Given the description of an element on the screen output the (x, y) to click on. 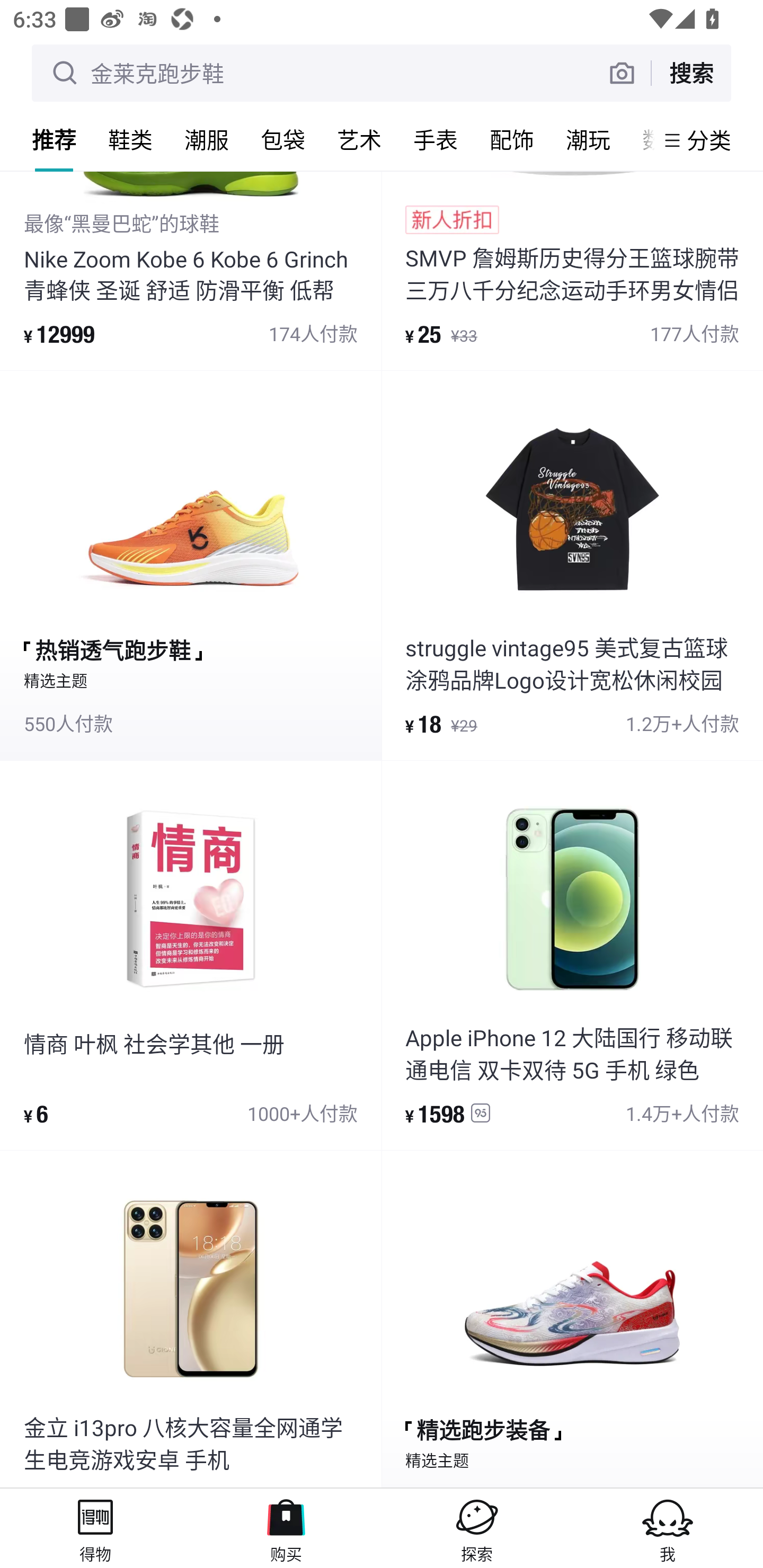
搜索 (690, 72)
推荐 (54, 139)
鞋类 (130, 139)
潮服 (206, 139)
包袋 (282, 139)
艺术 (359, 139)
手表 (435, 139)
配饰 (511, 139)
潮玩 (588, 139)
分类 (708, 139)
热销透气跑步鞋 精选主题 550人付款 (190, 565)
product_item 情商 叶枫 社会学其他 一册 ¥ 6 1000+人付款 (190, 954)
product_item 金立 i13pro 八核大容量全网通学
生电竞游戏安卓 手机 (190, 1319)
精选跑步装备 精选主题 (572, 1319)
得物 (95, 1528)
购买 (285, 1528)
探索 (476, 1528)
我 (667, 1528)
